Given the description of an element on the screen output the (x, y) to click on. 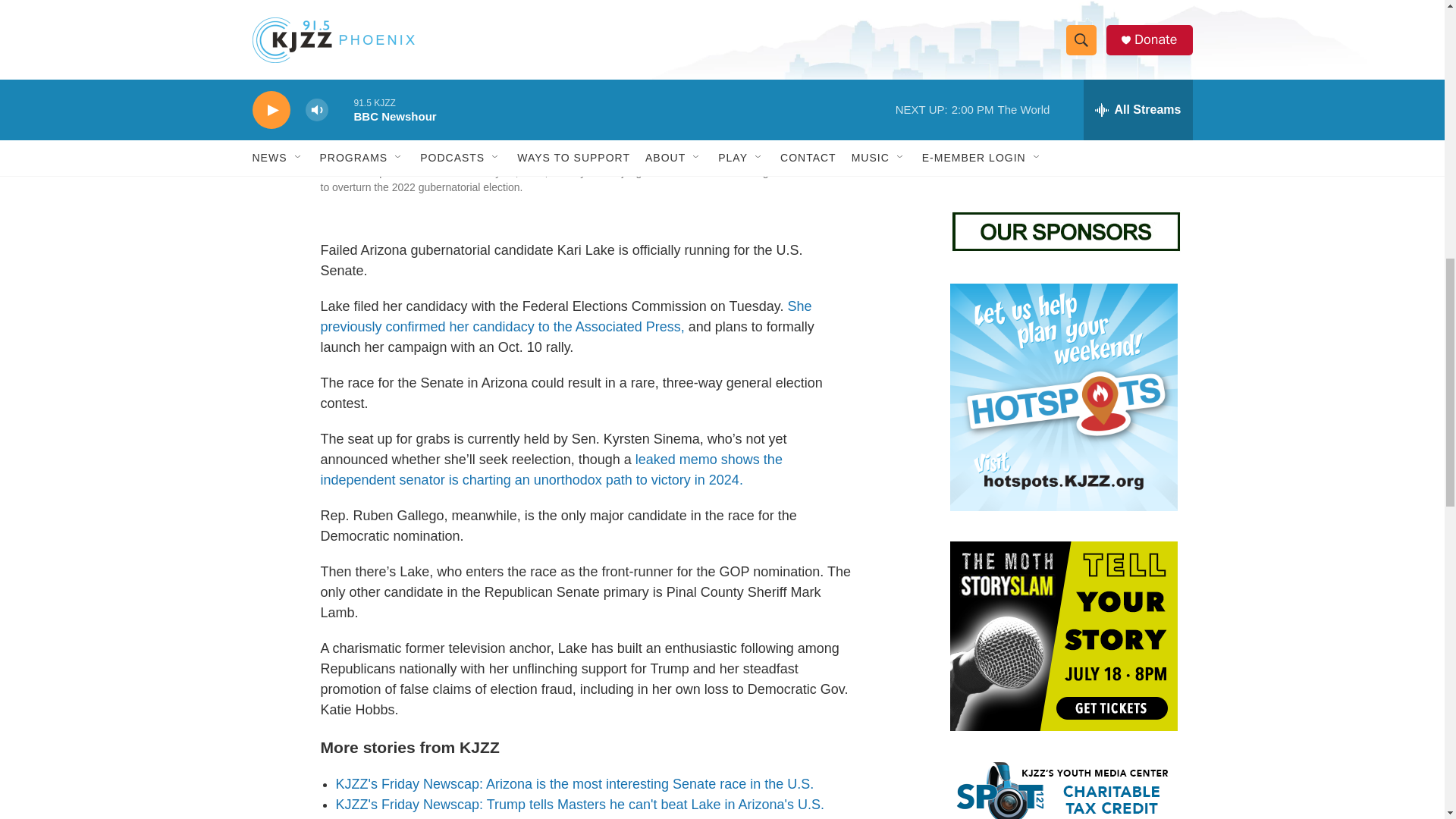
3rd party ad content (1062, 89)
Spot 127 web site (1062, 790)
